Given the description of an element on the screen output the (x, y) to click on. 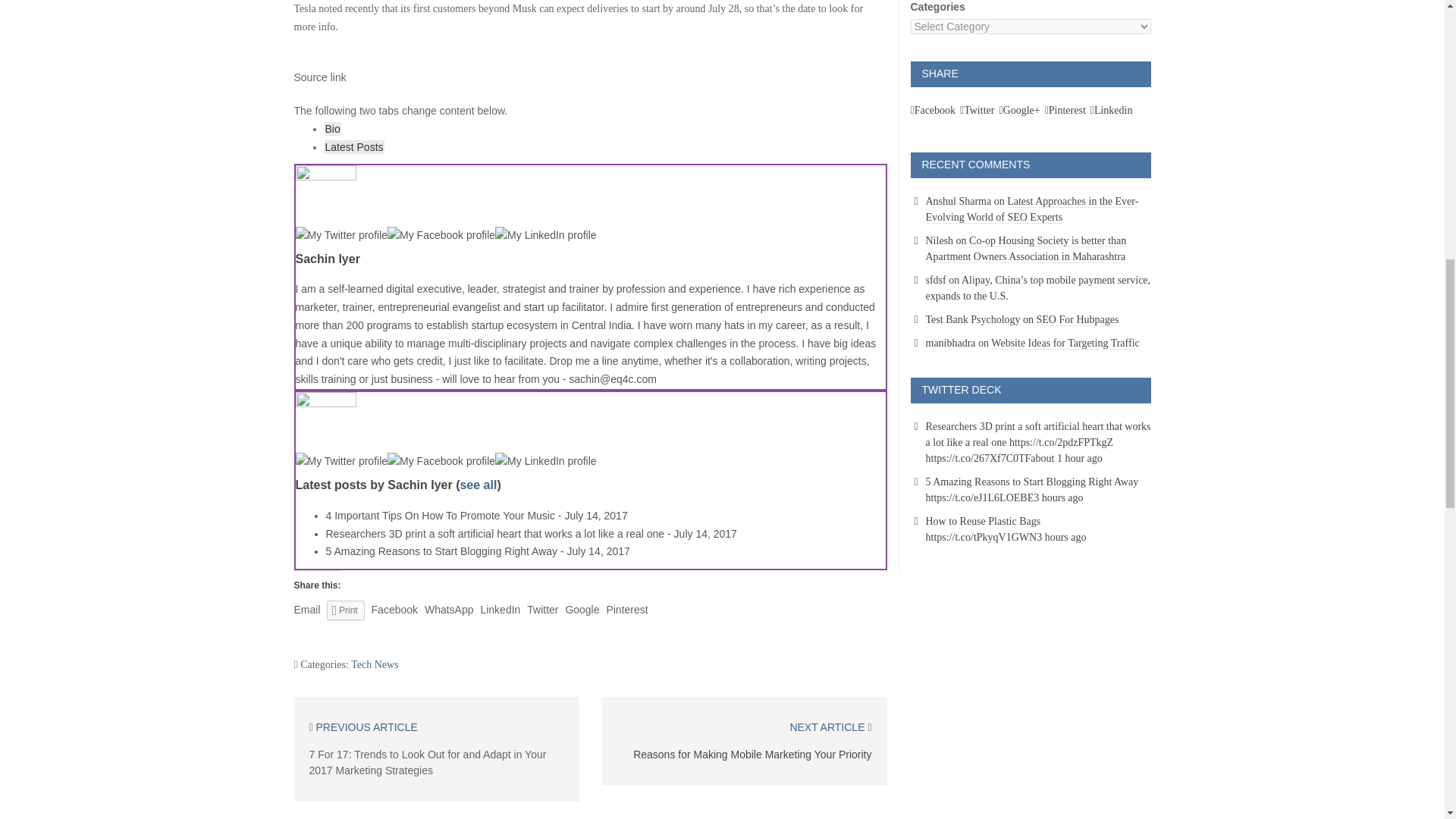
see all (478, 484)
Reasons for Making Mobile Marketing Your Priority (751, 754)
Click to print (345, 609)
Latest Posts (354, 146)
Print (345, 609)
Bio (332, 128)
Tech News (373, 664)
